Given the description of an element on the screen output the (x, y) to click on. 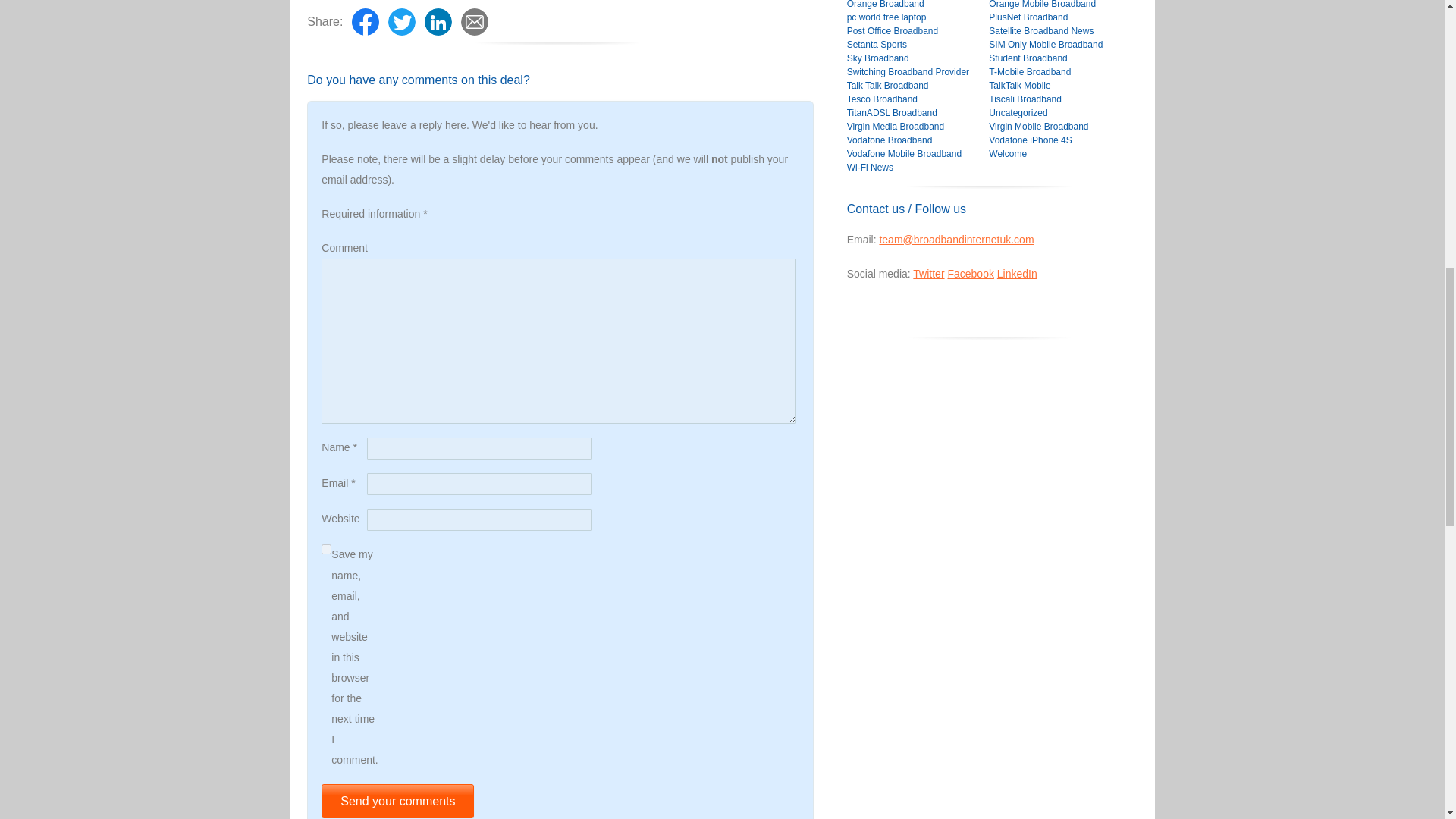
yes (326, 549)
Send your comments (397, 800)
Send your comments (397, 800)
